Given the description of an element on the screen output the (x, y) to click on. 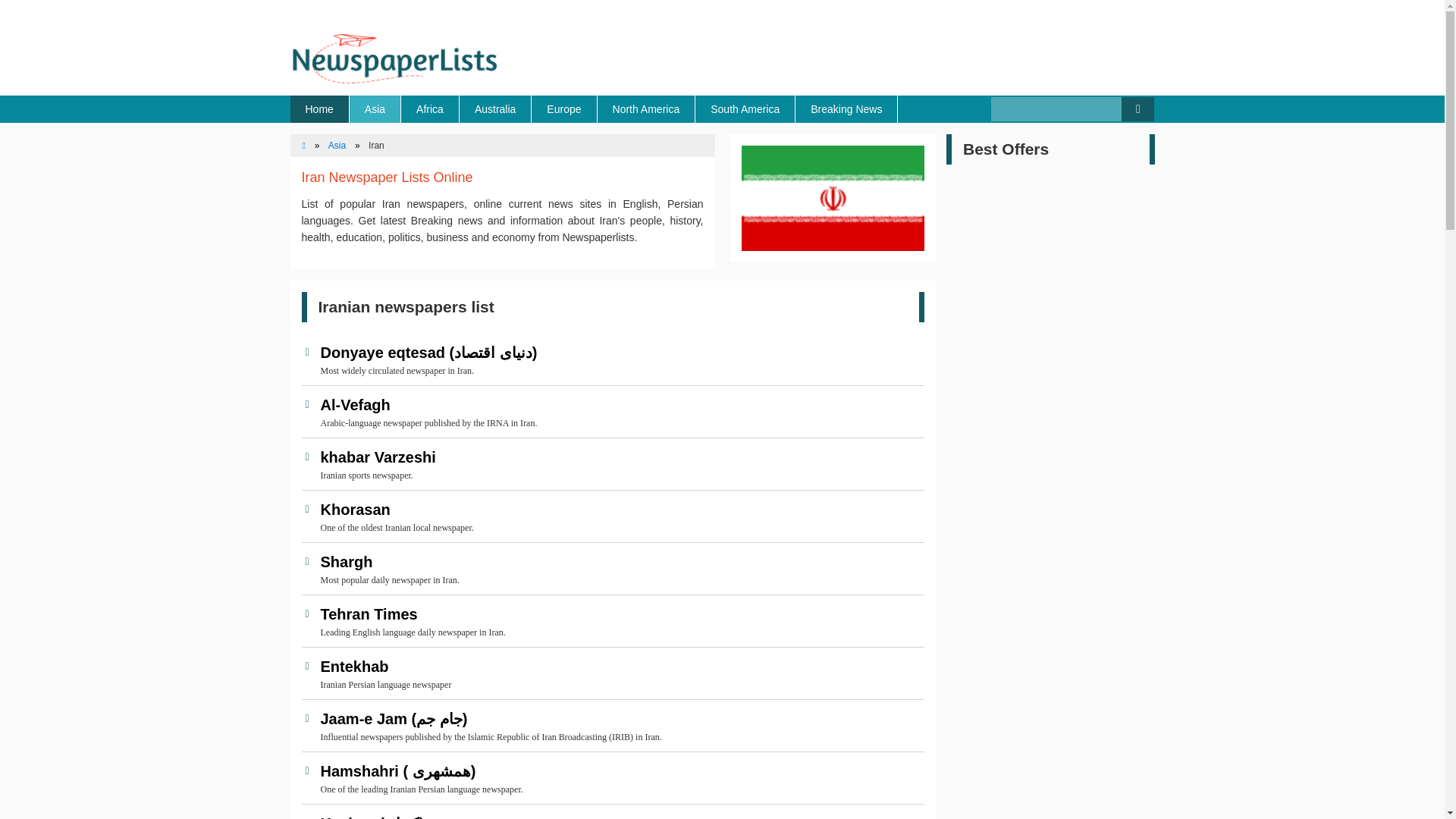
Khorasan (618, 508)
Europe (563, 108)
Tehran Times (618, 613)
Breaking News (846, 108)
North America (645, 108)
South America (744, 108)
Shargh (618, 561)
khabar Varzeshi (618, 456)
Africa (430, 108)
Al-Vefagh (618, 404)
Entekhab (618, 666)
Home (319, 108)
Australia (495, 108)
Asia (337, 145)
